Given the description of an element on the screen output the (x, y) to click on. 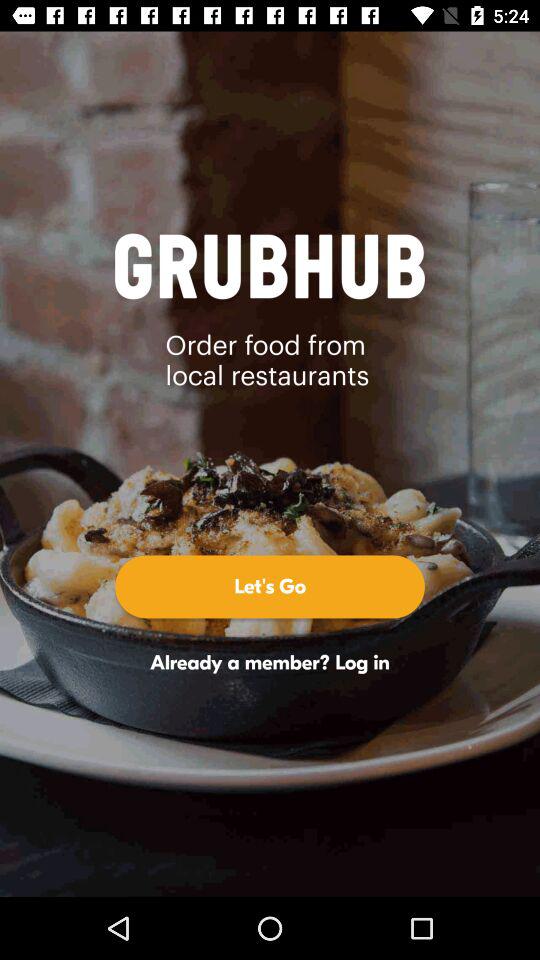
turn on the icon above already a member (269, 586)
